Given the description of an element on the screen output the (x, y) to click on. 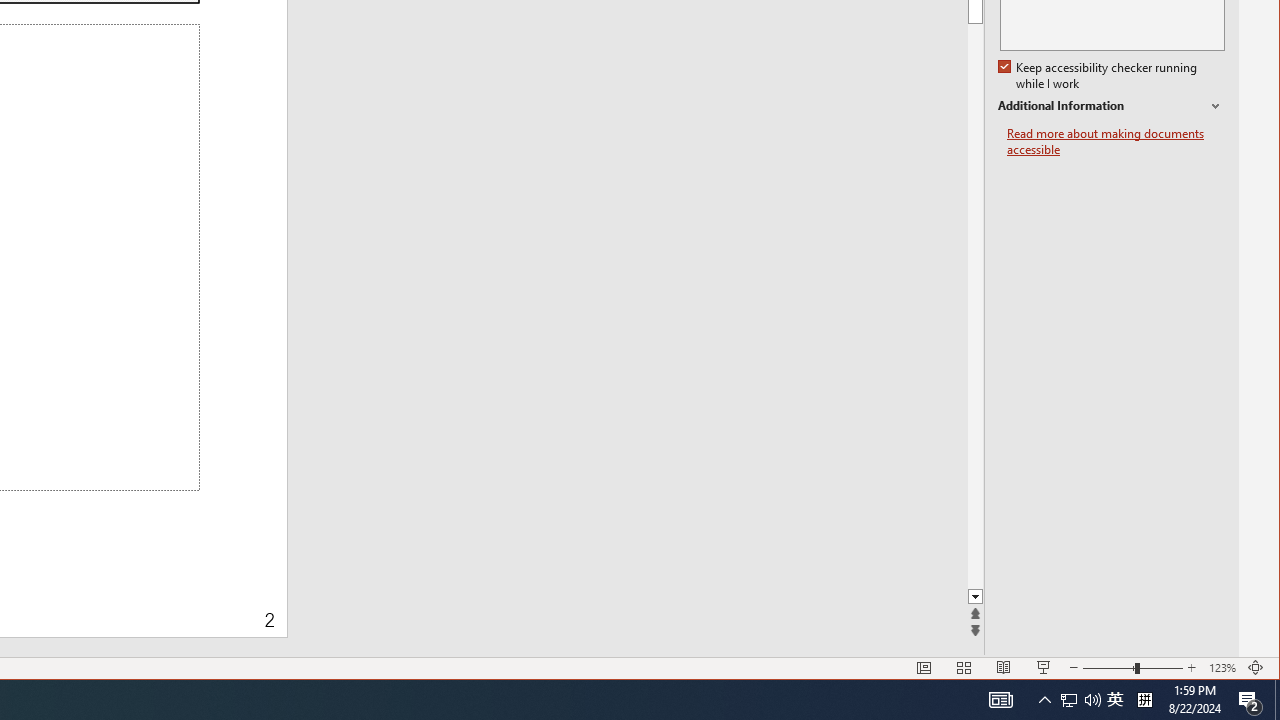
AutomationID: 4105 (1115, 699)
Show desktop (1000, 699)
Tray Input Indicator - Chinese (Simplified, China) (1277, 699)
Read more about making documents accessible (1069, 699)
